Given the description of an element on the screen output the (x, y) to click on. 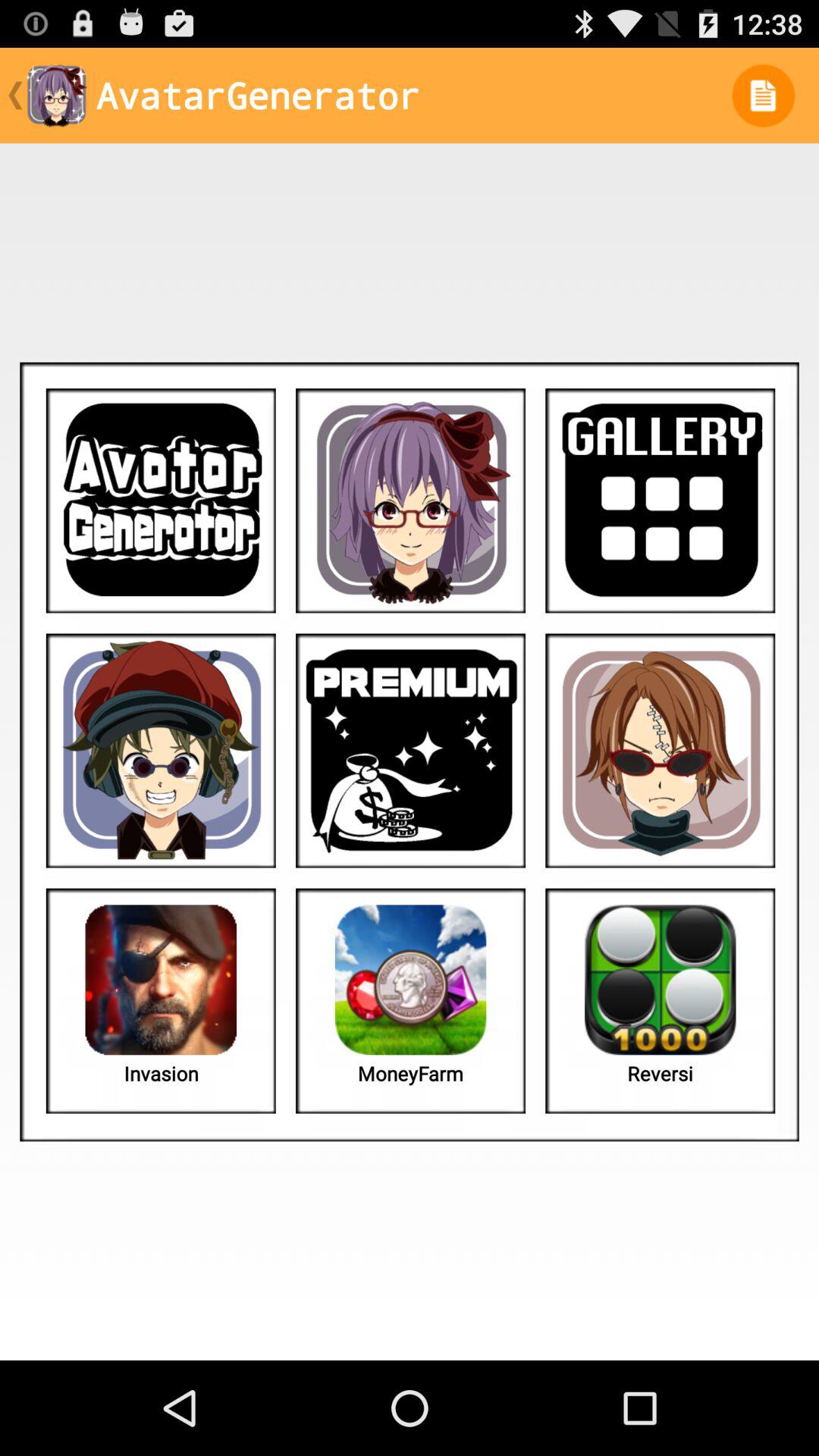
select the image (660, 500)
